Given the description of an element on the screen output the (x, y) to click on. 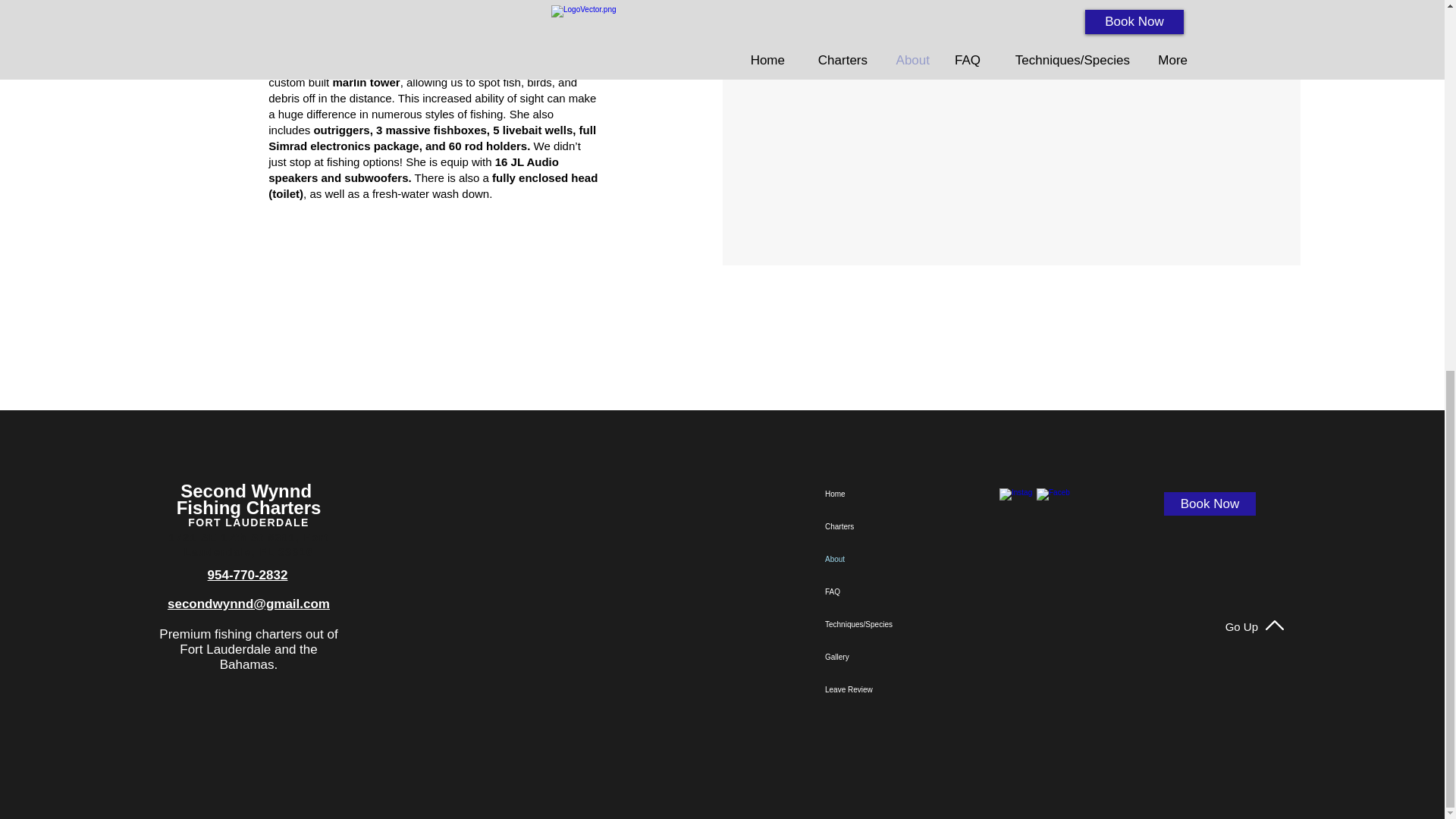
About (889, 558)
Leave Review (889, 689)
FAQ (889, 591)
Fishing Charters (248, 507)
Home (889, 493)
Book Now (1209, 503)
Second Wynnd  (248, 490)
Go Up (1241, 626)
Gallery (889, 656)
954-770-2832 (248, 575)
